Given the description of an element on the screen output the (x, y) to click on. 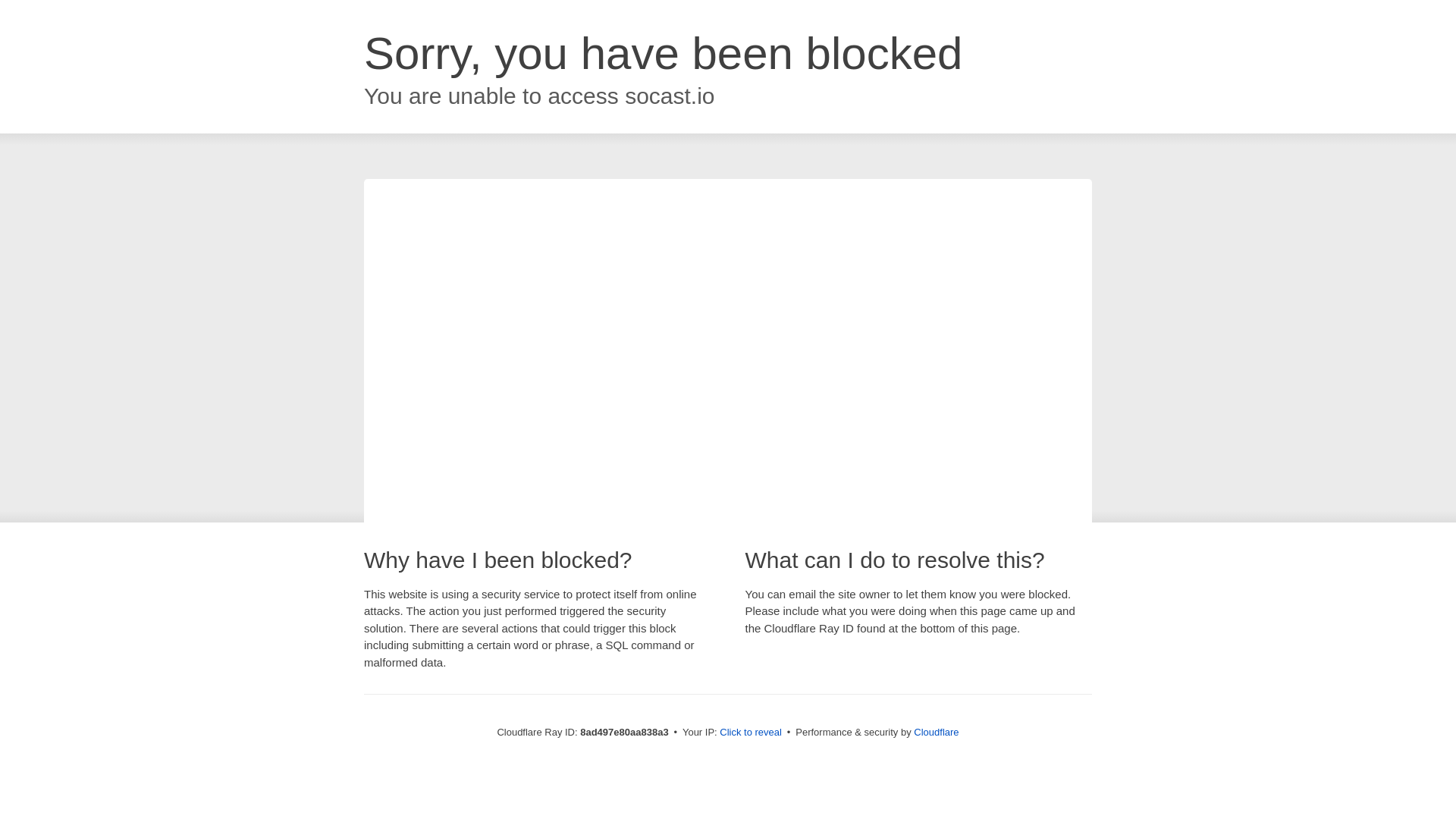
Cloudflare (936, 731)
Click to reveal (750, 732)
